Given the description of an element on the screen output the (x, y) to click on. 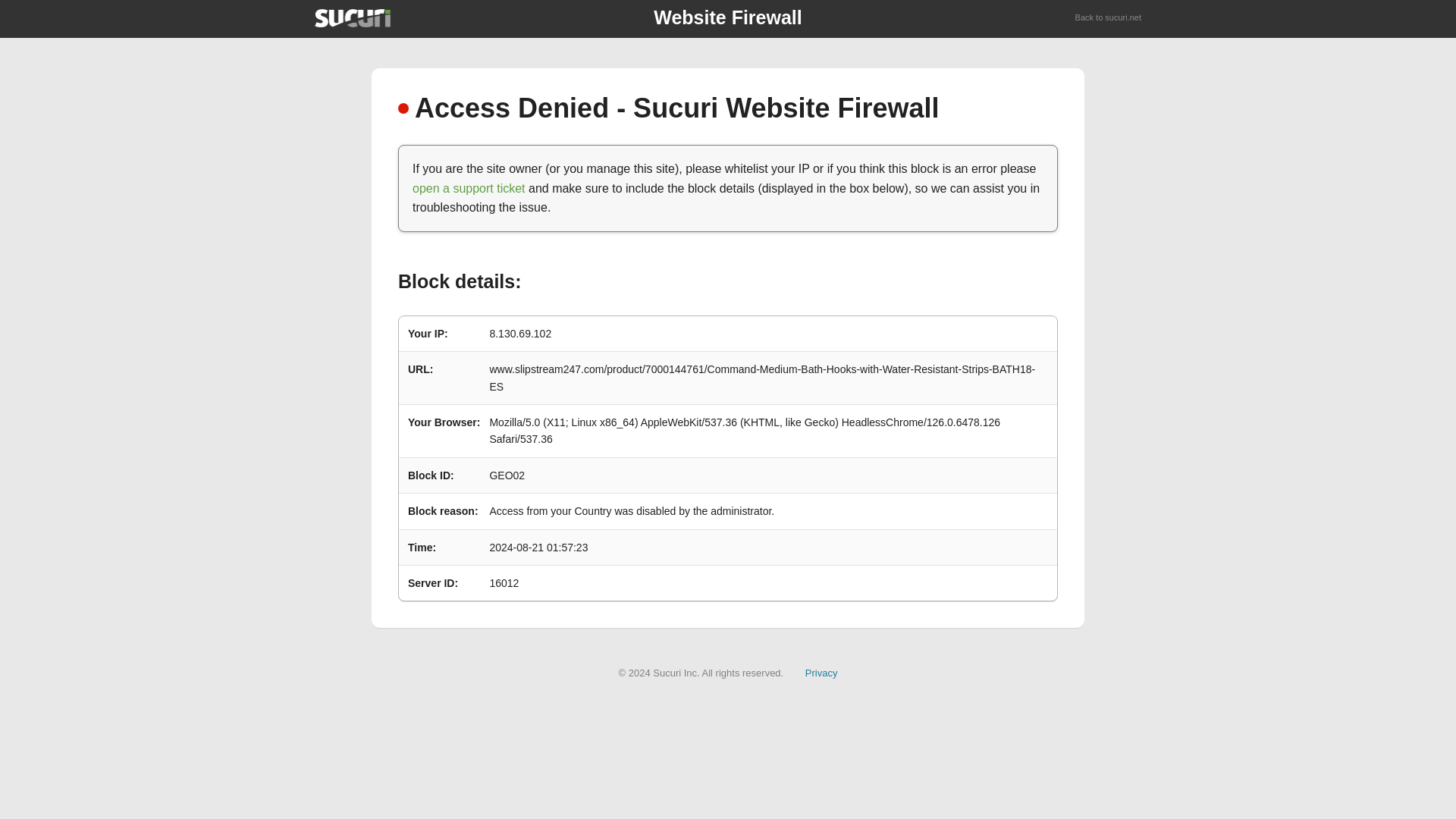
Back to sucuri.net (1108, 18)
Privacy (821, 672)
open a support ticket (468, 187)
